Given the description of an element on the screen output the (x, y) to click on. 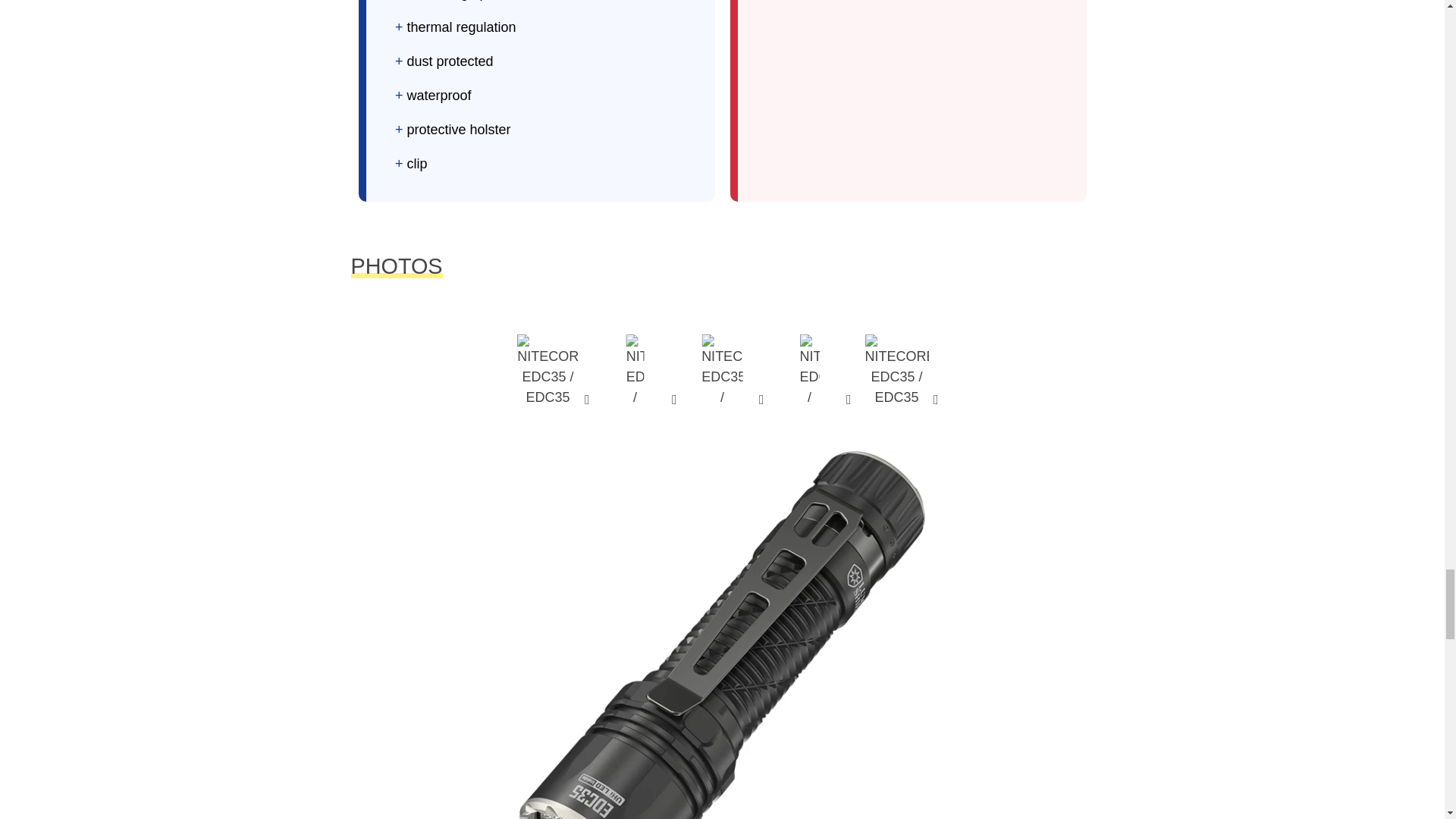
Click to view larger image (722, 368)
Click to view larger image (809, 368)
Click to view larger image (547, 368)
Click to view larger image (634, 368)
Click to view larger image (897, 368)
